Given the description of an element on the screen output the (x, y) to click on. 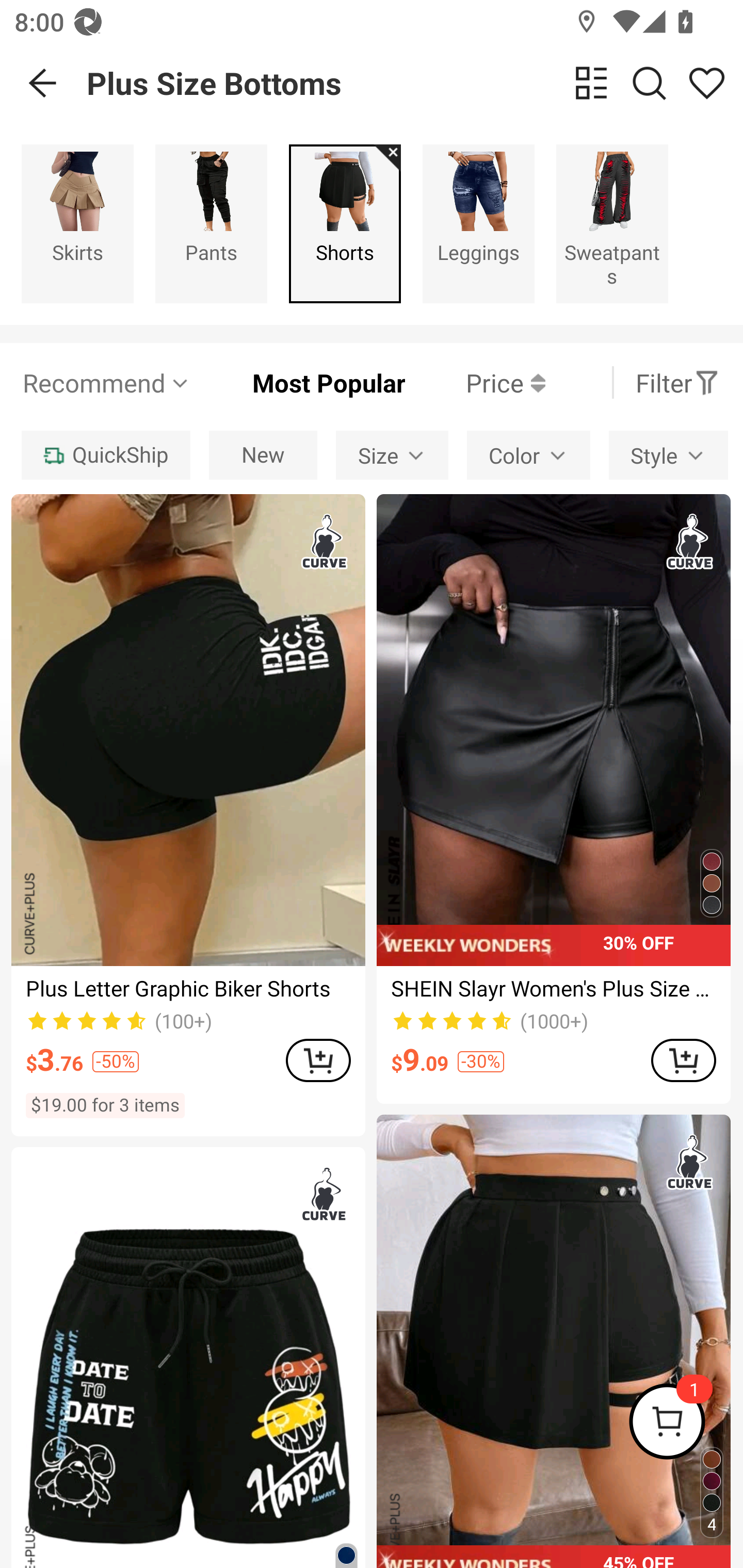
Plus Size Bottoms change view Search Share (414, 82)
change view (591, 82)
Search (648, 82)
Share (706, 82)
Skirts (77, 223)
Pants (211, 223)
Shorts (345, 223)
Leggings (478, 223)
Sweatpants (611, 223)
Recommend (106, 382)
Most Popular (297, 382)
Price (474, 382)
Filter (677, 382)
QuickShip (105, 455)
New (262, 455)
Size (391, 455)
Color (527, 455)
Style (668, 455)
ADD TO CART (318, 1059)
ADD TO CART (683, 1059)
Plus Size Women's Irregular Hem Shorts 4 45% OFF (553, 1341)
